Given the description of an element on the screen output the (x, y) to click on. 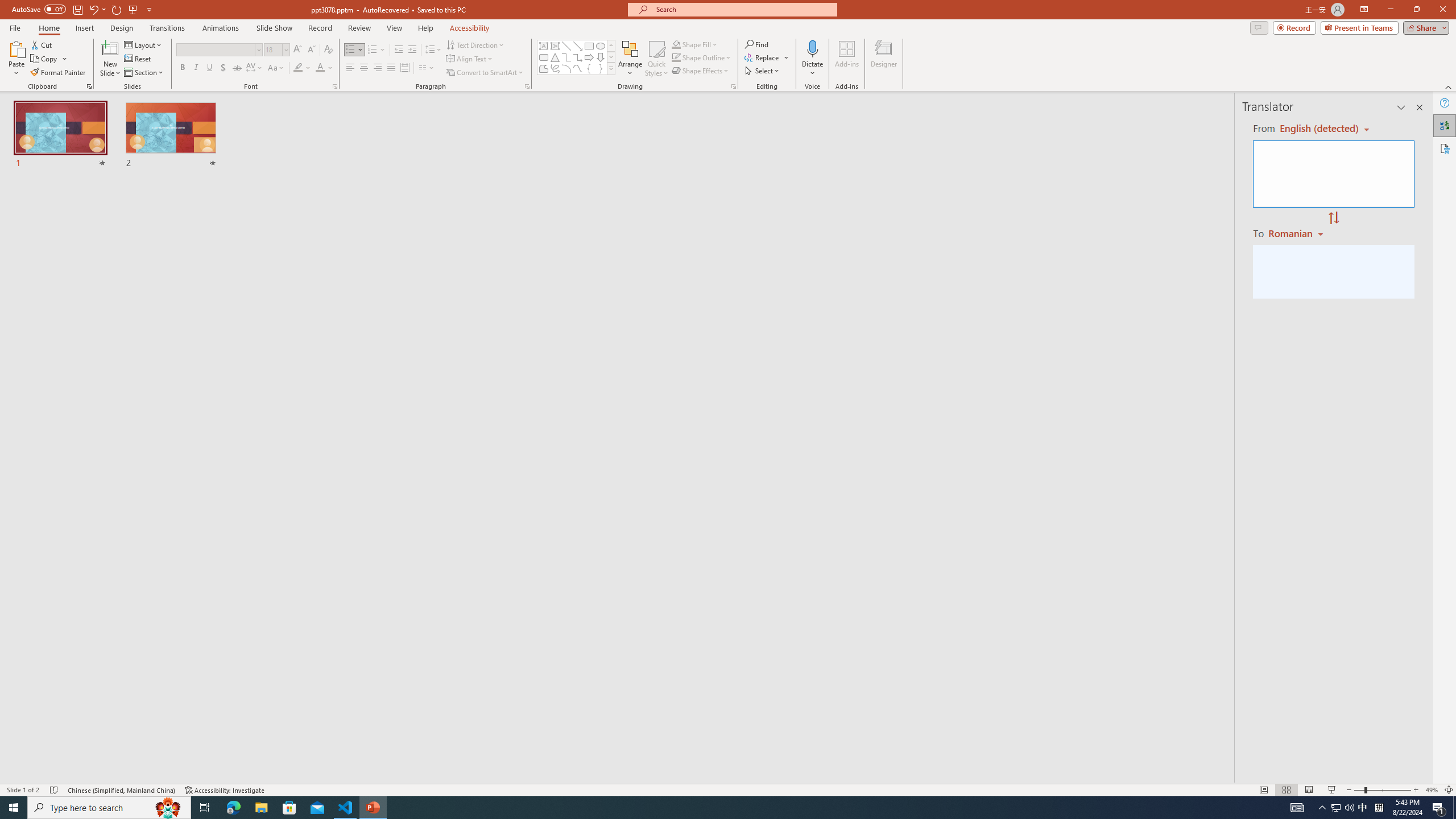
Shape Outline Green, Accent 1 (675, 56)
